Given the description of an element on the screen output the (x, y) to click on. 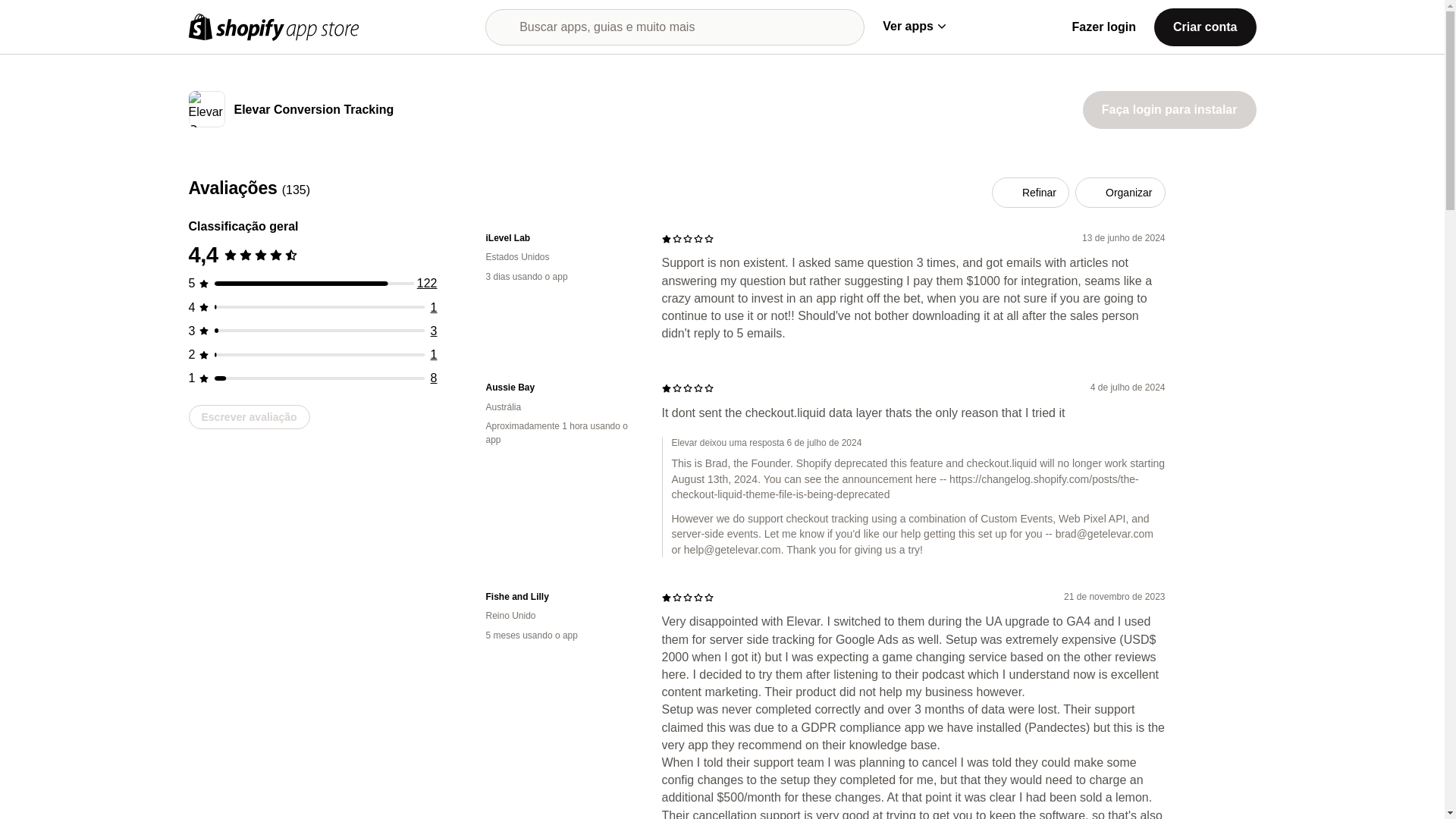
Refinar (1029, 192)
Criar conta (1204, 26)
Aussie Bay (560, 387)
iLevel Lab (560, 237)
Ver apps (913, 26)
Fishe and Lilly (560, 596)
Elevar Conversion Tracking (312, 110)
122 (427, 282)
Fazer login (1103, 27)
